Given the description of an element on the screen output the (x, y) to click on. 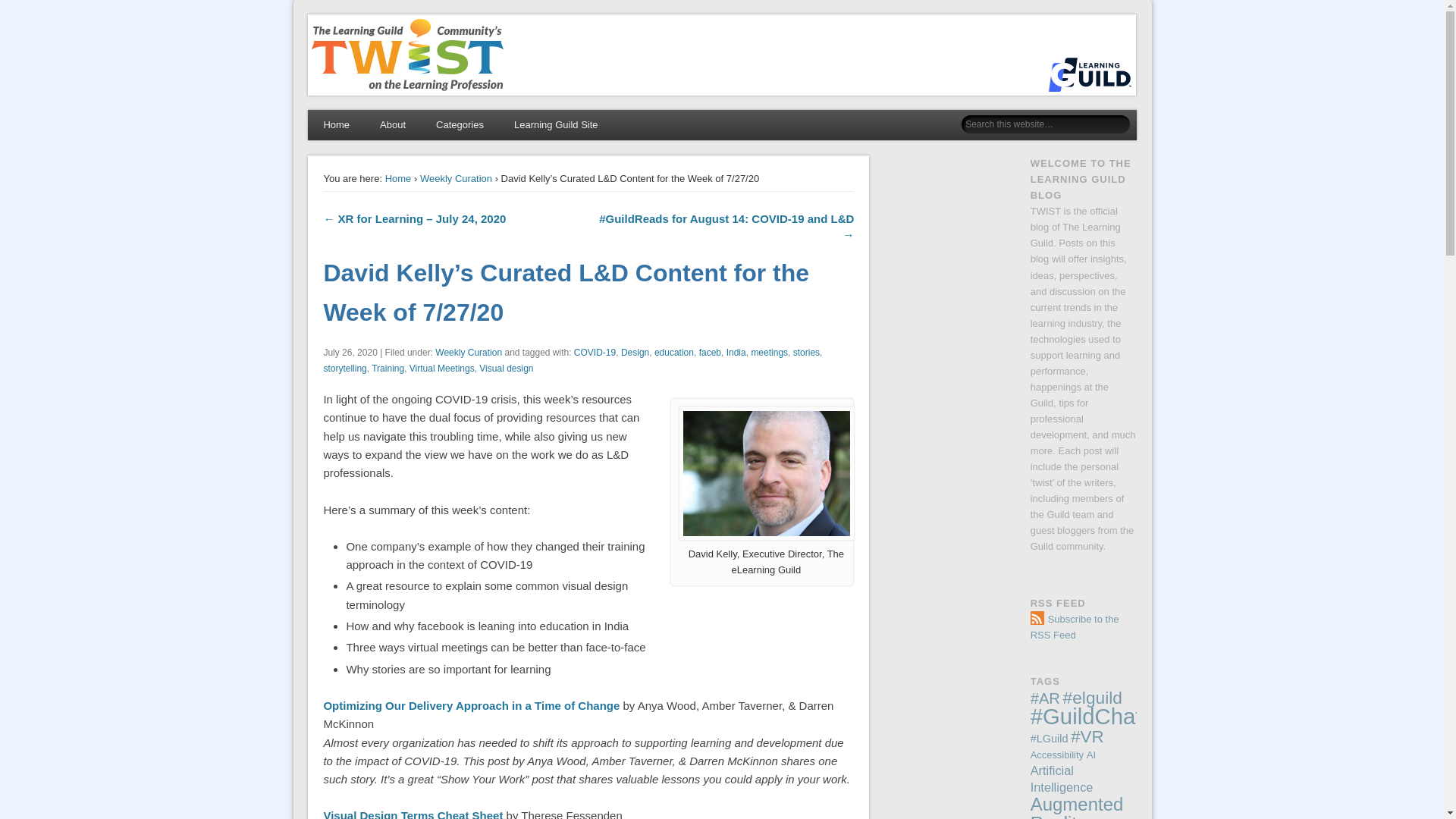
meetings (769, 352)
stories (806, 352)
Weekly Curation (456, 178)
Optimizing Our Delivery Approach in a Time of Change (471, 705)
education (673, 352)
Visual Design Terms Cheat Sheet (412, 814)
Learning Guild Site (555, 124)
Weekly Curation (468, 352)
Visual design (505, 368)
India (735, 352)
Virtual Meetings (441, 368)
Search (11, 7)
Training (387, 368)
Design (635, 352)
Home (336, 124)
